Given the description of an element on the screen output the (x, y) to click on. 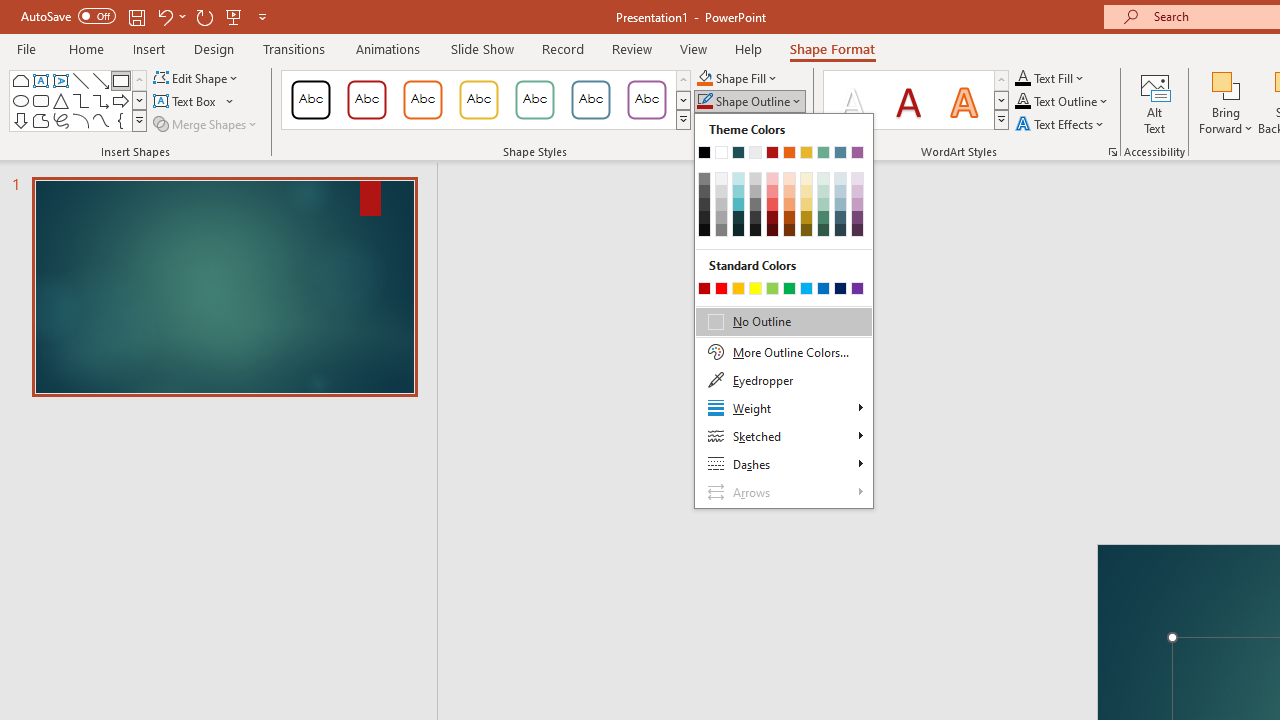
Text Fill RGB(0, 0, 0) (1023, 78)
